Given the description of an element on the screen output the (x, y) to click on. 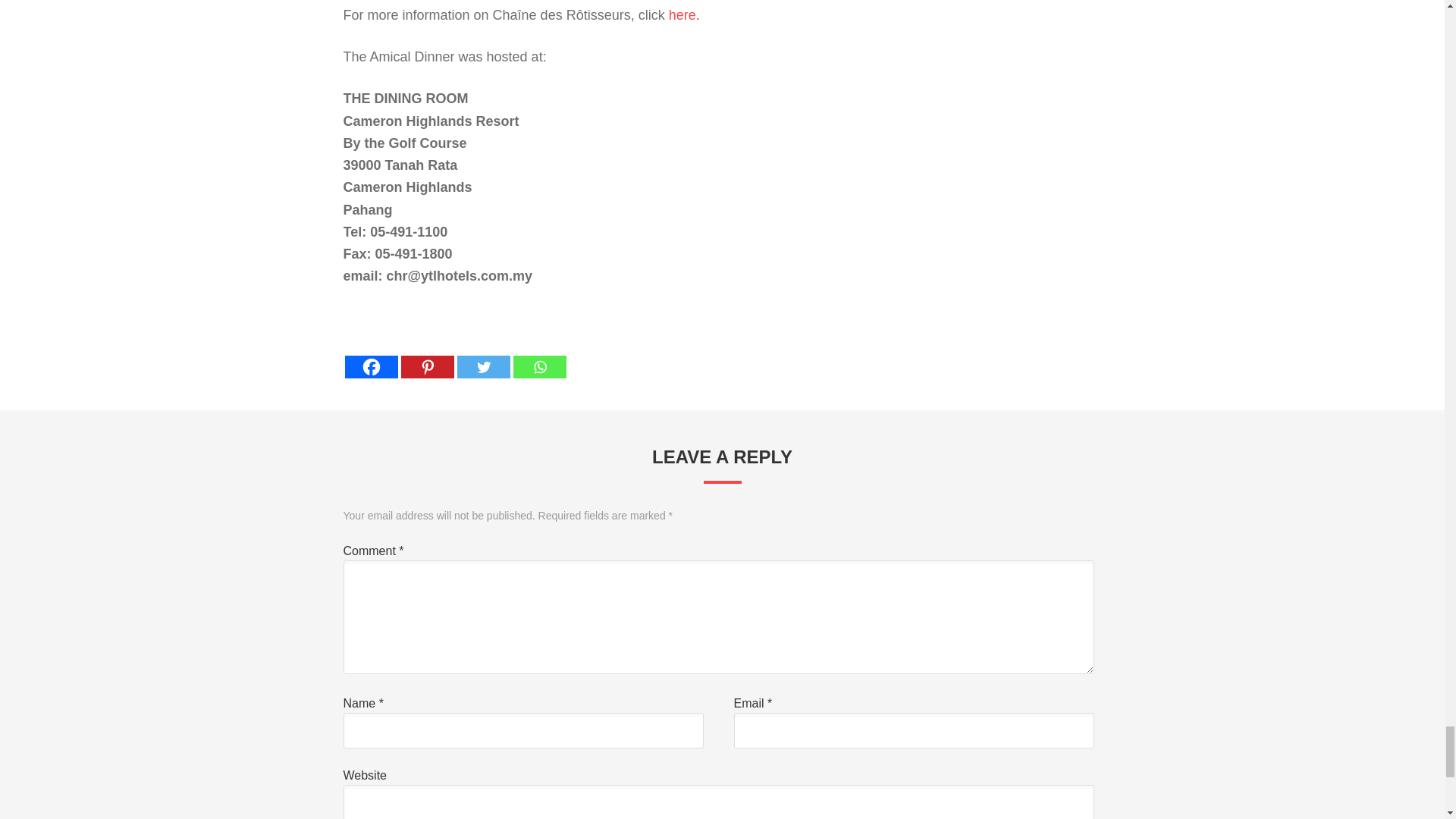
Whatsapp (539, 355)
Facebook (370, 355)
Pinterest (426, 355)
Twitter (483, 355)
